Given the description of an element on the screen output the (x, y) to click on. 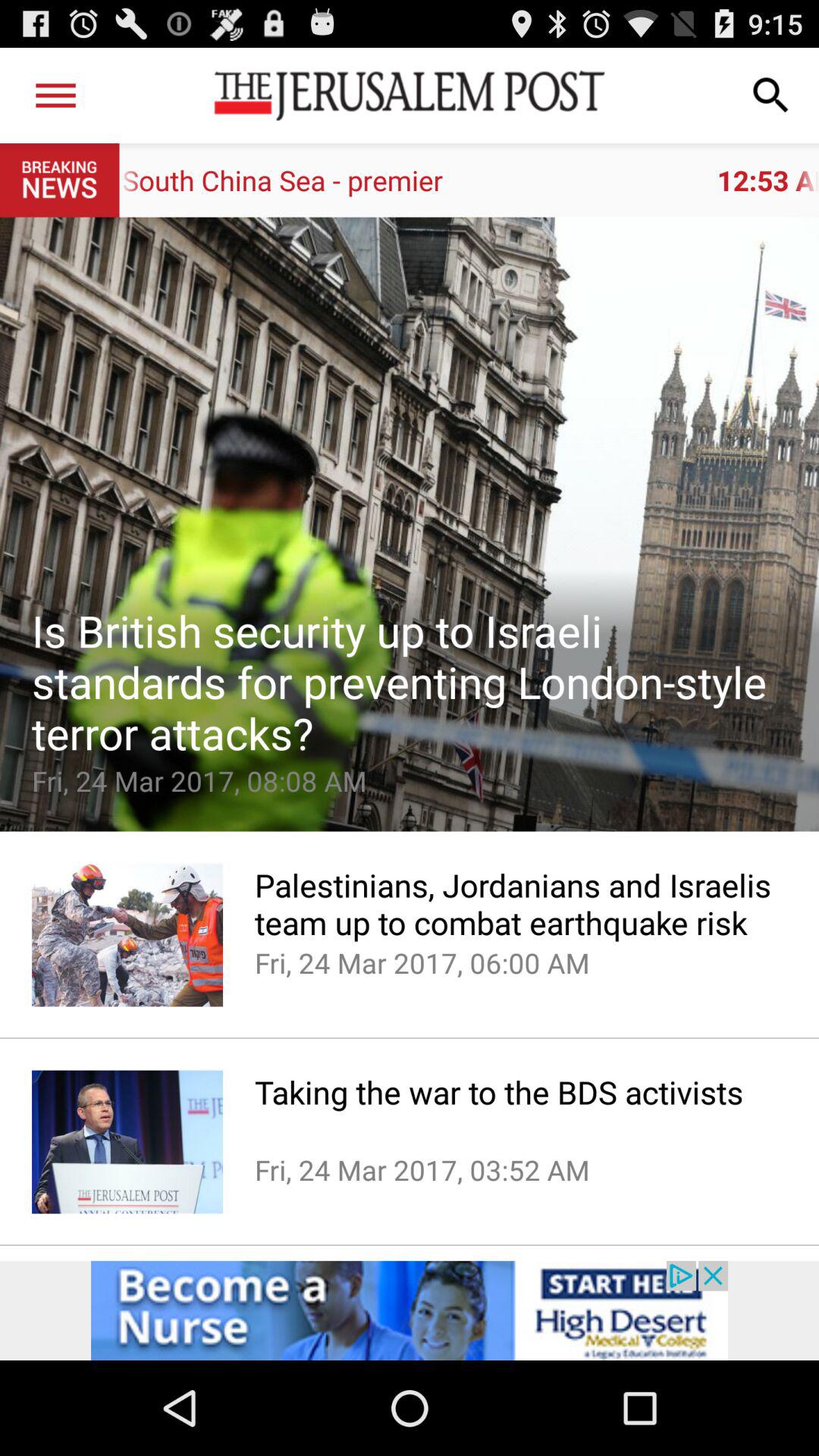
press the item above the 12 53 am item (55, 95)
